Given the description of an element on the screen output the (x, y) to click on. 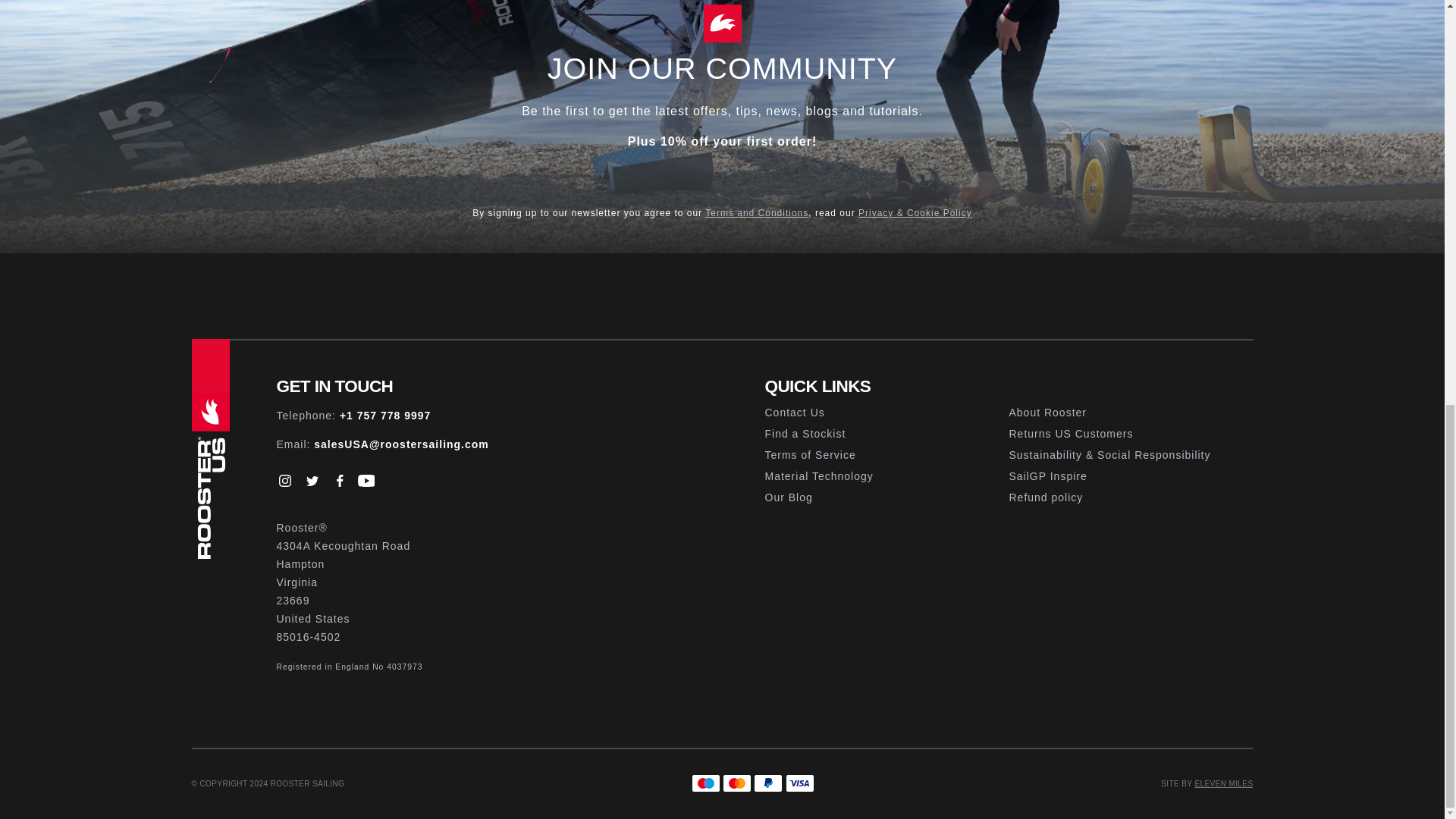
MASTERCARD (736, 782)
About Rooster (1130, 412)
Contact Us (886, 412)
MAESTRO (705, 782)
VISA (799, 782)
Find a Stockist (886, 433)
PAYPAL (768, 782)
ROOSTER USA on Twitter (311, 480)
Returns US Customers (1130, 433)
ROOSTER USA on Instagram (285, 480)
Terms of Service (886, 455)
ROOSTER USA on Facebook (338, 480)
ROOSTER USA on YouTube (365, 480)
Material Technology  (886, 476)
